Given the description of an element on the screen output the (x, y) to click on. 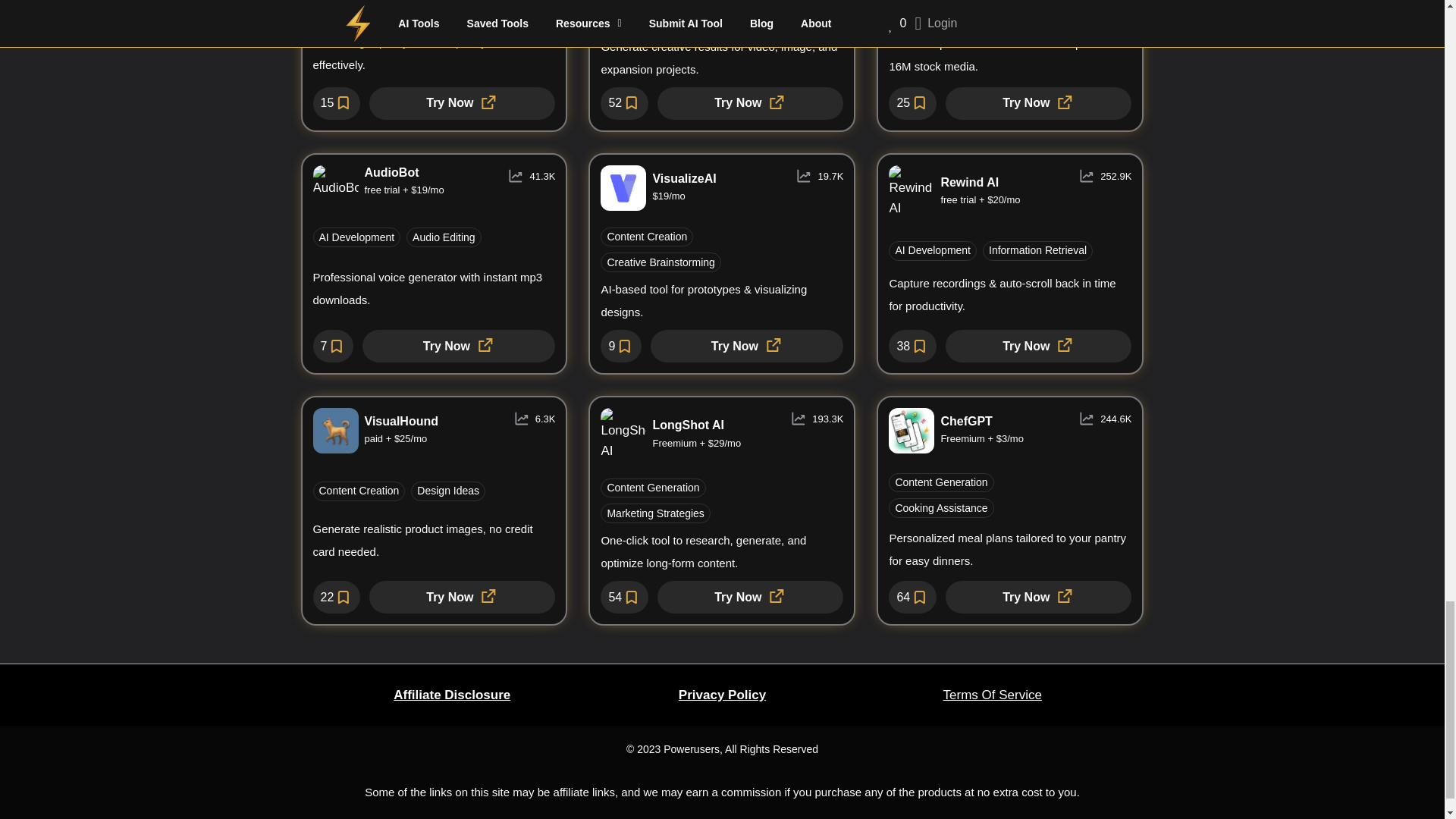
invideo (1037, 102)
longshot (750, 596)
visualizeai (746, 346)
visualhound (461, 596)
thundercontent (461, 102)
audiobot (458, 346)
chefgpt (1037, 596)
rewind-ai (1037, 346)
runwayml (750, 102)
